Given the description of an element on the screen output the (x, y) to click on. 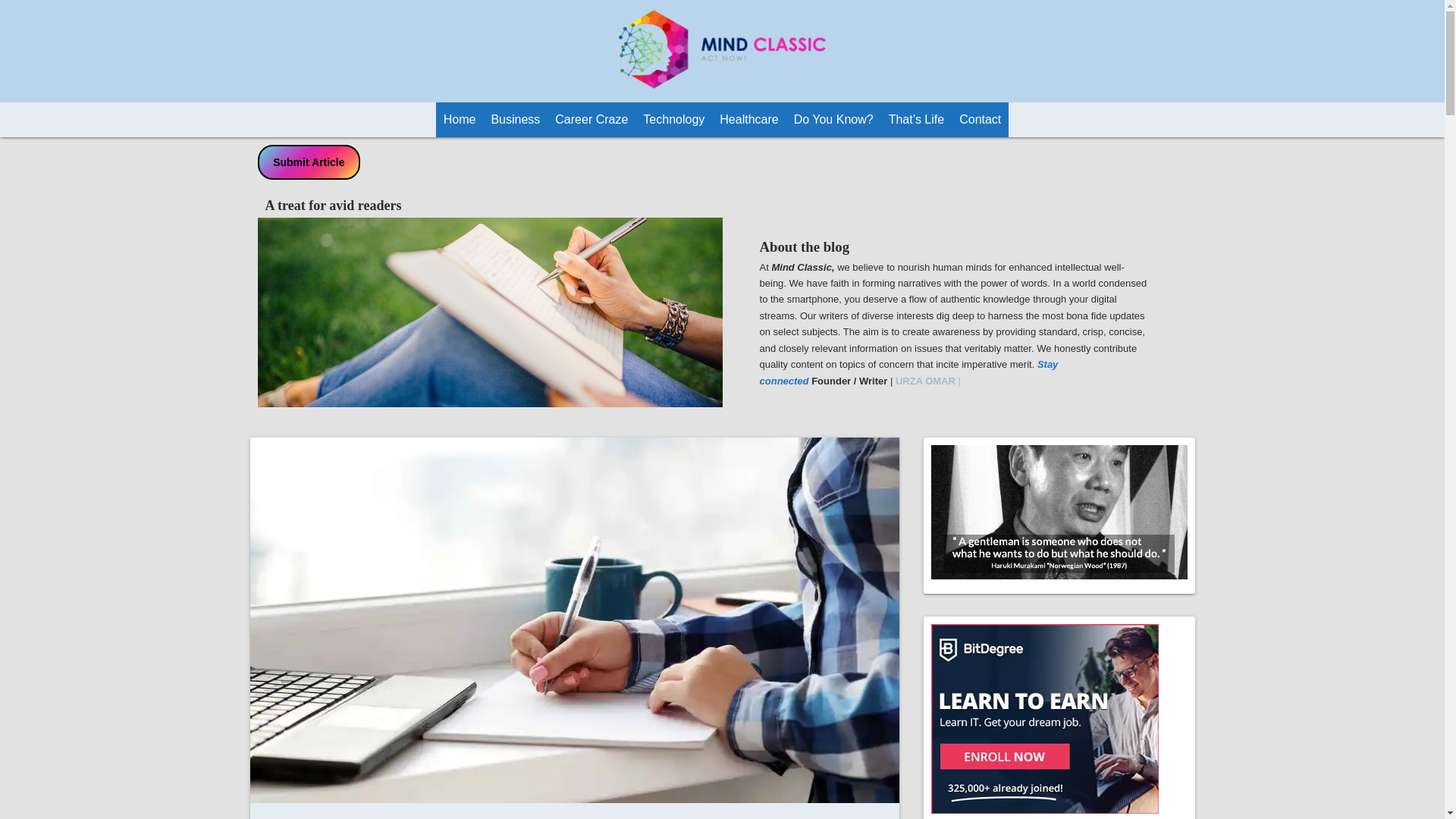
Do You Know? (833, 119)
Business (515, 119)
Healthcare (748, 119)
Stay connected (909, 371)
Home (460, 119)
Career Craze (590, 119)
Submit Article (309, 161)
Technology (673, 119)
Contact (980, 119)
